Given the description of an element on the screen output the (x, y) to click on. 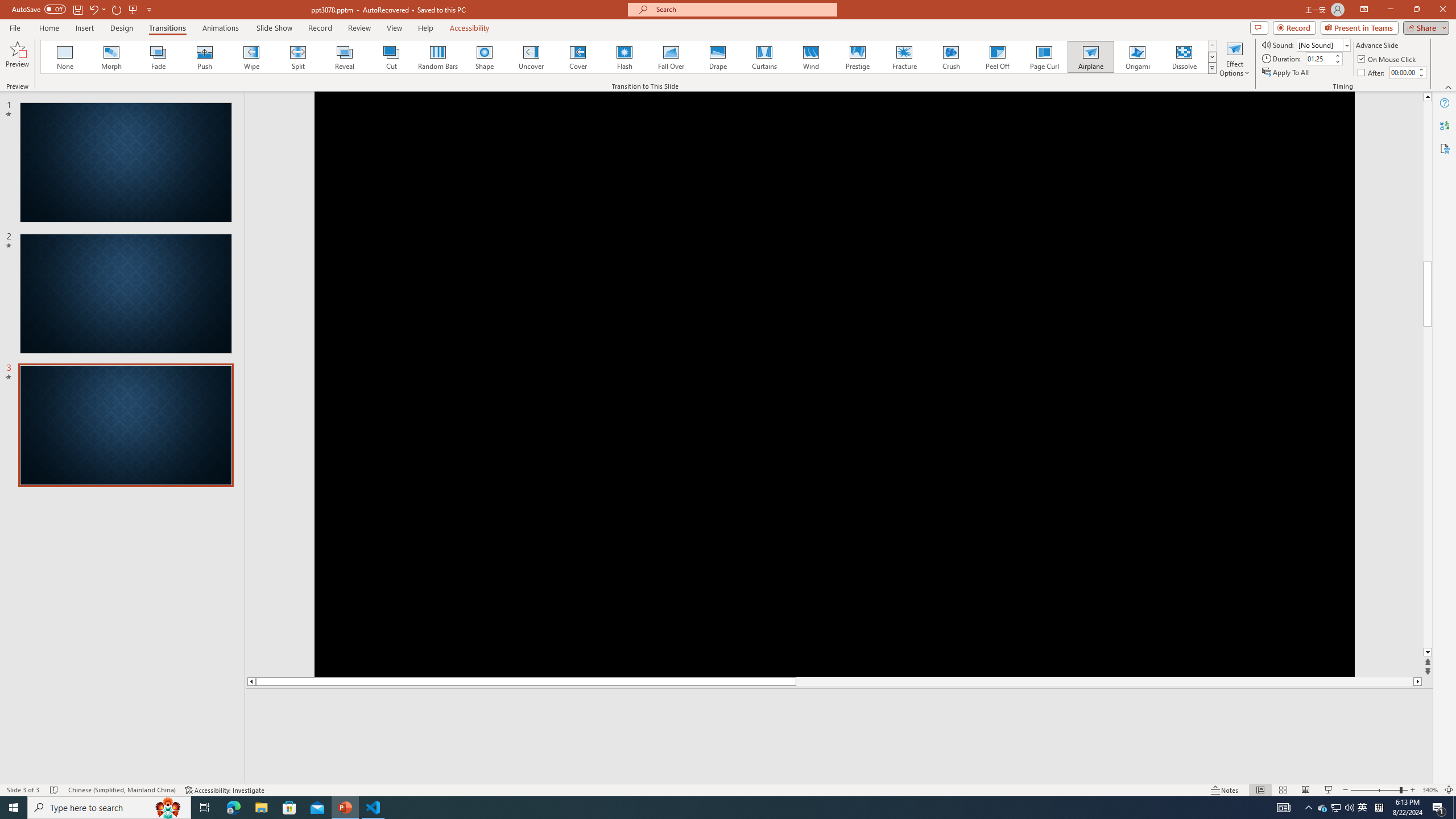
Peel Off (997, 56)
Content Placeholder (1338, 289)
Drape (717, 56)
On Mouse Click (1387, 58)
Prestige (857, 56)
Duration (1319, 58)
